Given the description of an element on the screen output the (x, y) to click on. 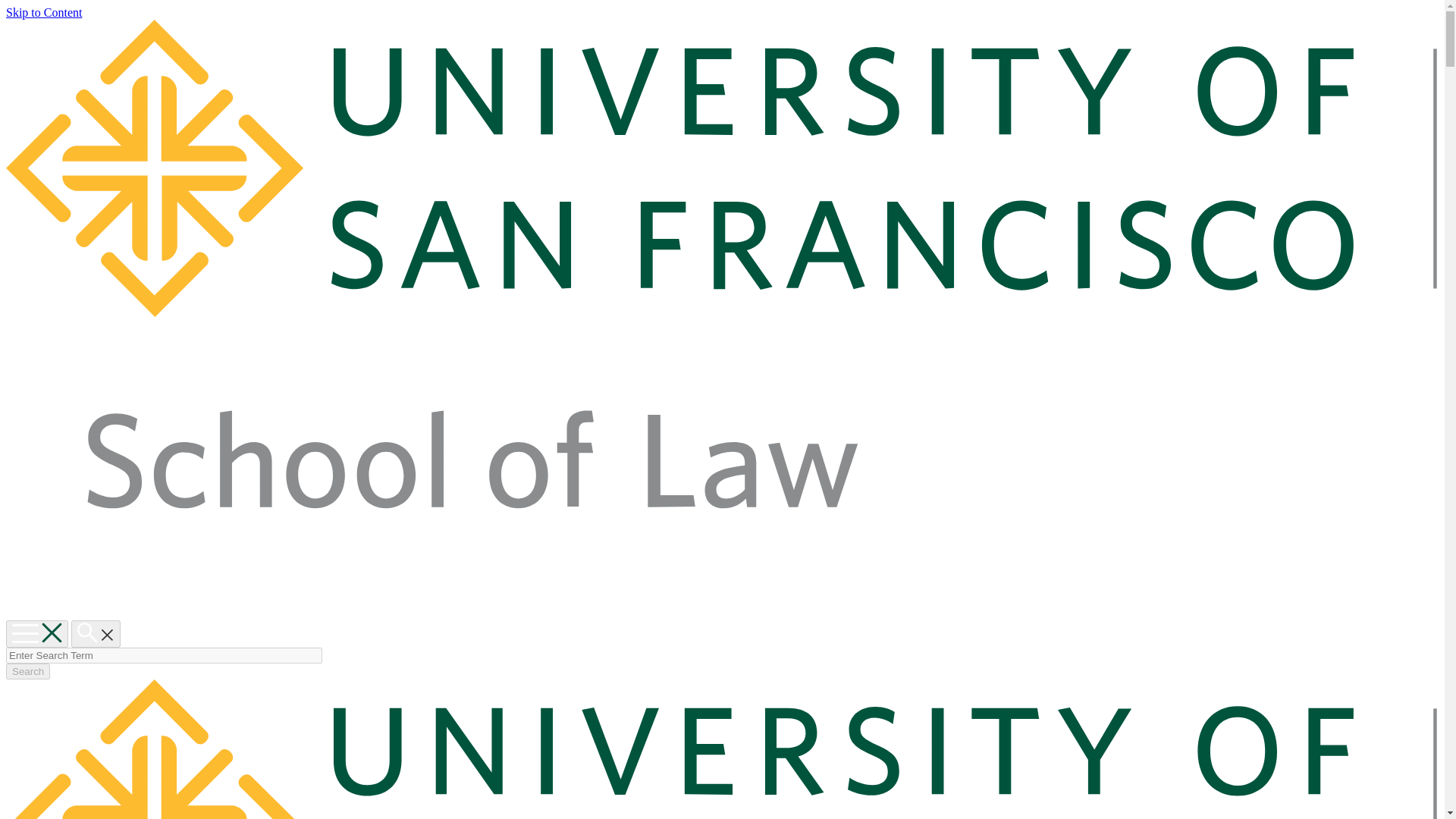
Search (27, 671)
Menu (36, 633)
Search (27, 671)
Search (95, 633)
Skip to Content (43, 11)
